Given the description of an element on the screen output the (x, y) to click on. 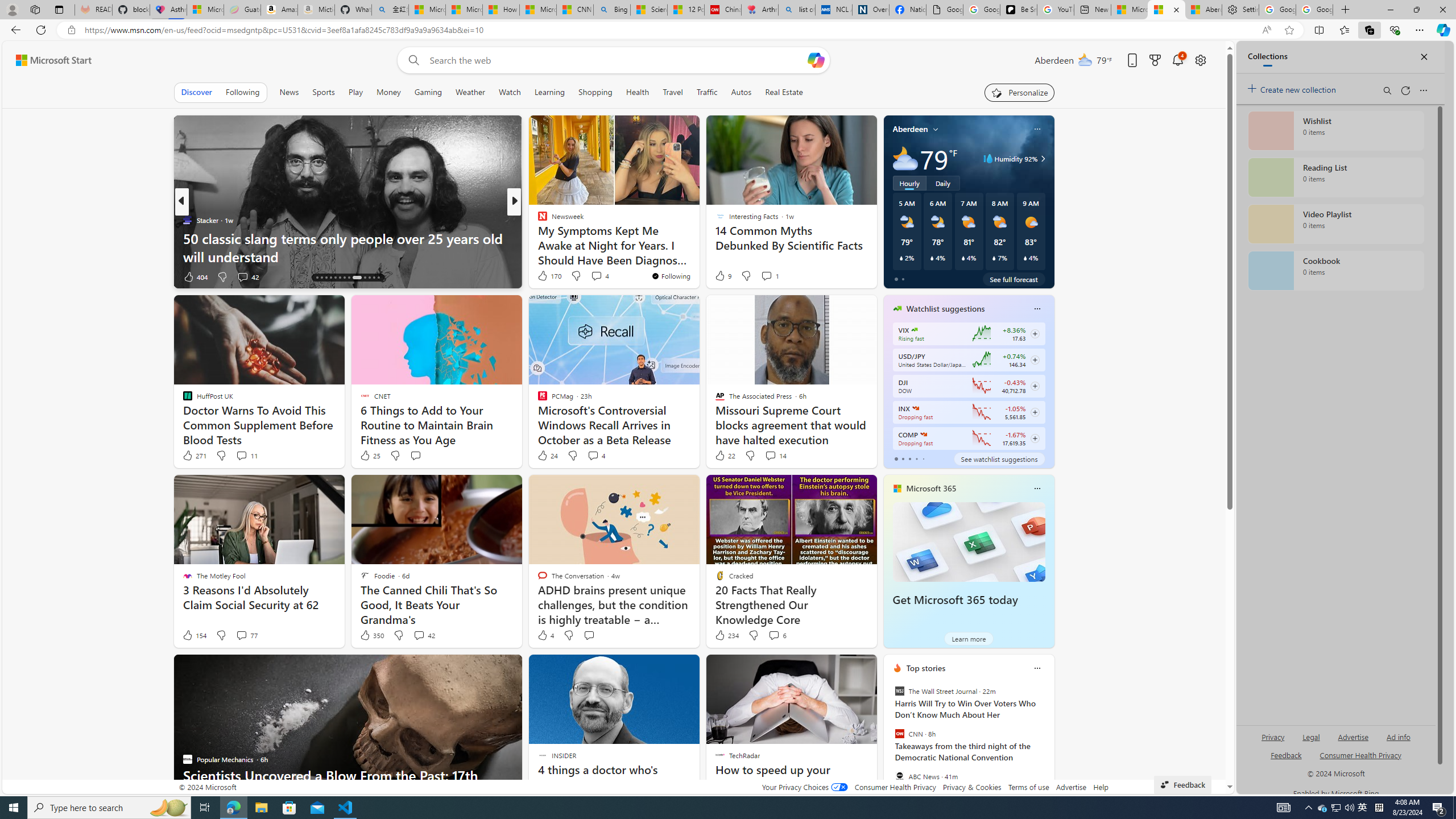
AutomationID: tab-21 (348, 277)
View comments 14 Comment (770, 455)
View comments 11 Comment (246, 455)
AutomationID: tab-19 (339, 277)
S&P 500 (914, 407)
The Wall Street Journal (898, 691)
